Given the description of an element on the screen output the (x, y) to click on. 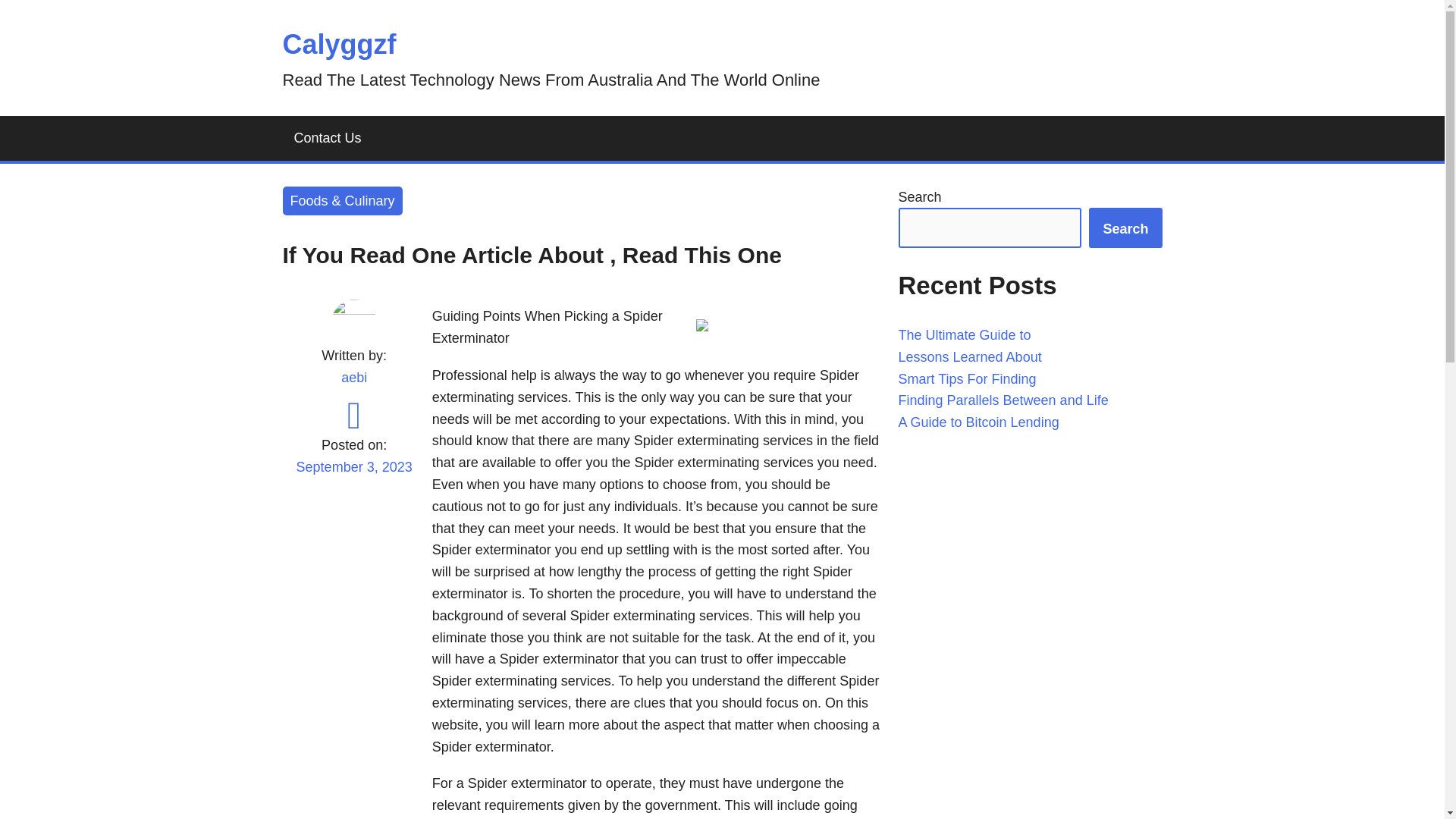
A Guide to Bitcoin Lending (978, 421)
Contact Us (327, 138)
Finding Parallels Between and Life (1003, 400)
aebi (353, 377)
September 3, 2023 (353, 476)
Lessons Learned About (969, 356)
Smart Tips For Finding (966, 378)
Search (1125, 228)
The Ultimate Guide to (964, 335)
Calyggzf (339, 43)
